Given the description of an element on the screen output the (x, y) to click on. 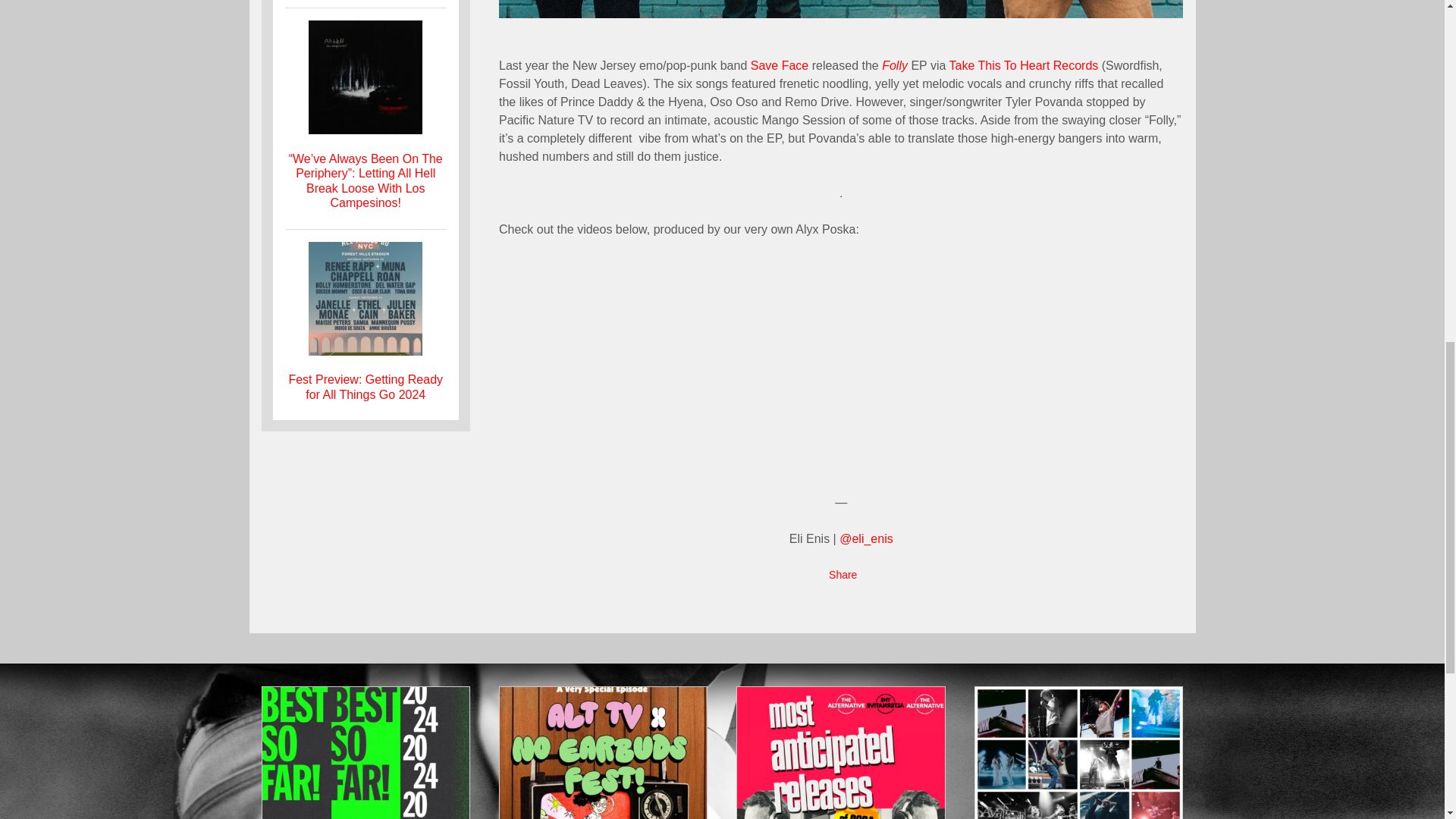
BEST PHOTOS OF 2023 (1078, 753)
Fest Preview: Getting Ready for All Things Go 2024 (365, 387)
Take This To Heart Records (1024, 65)
Save Face (779, 65)
Share (843, 574)
Folly (894, 65)
